Given the description of an element on the screen output the (x, y) to click on. 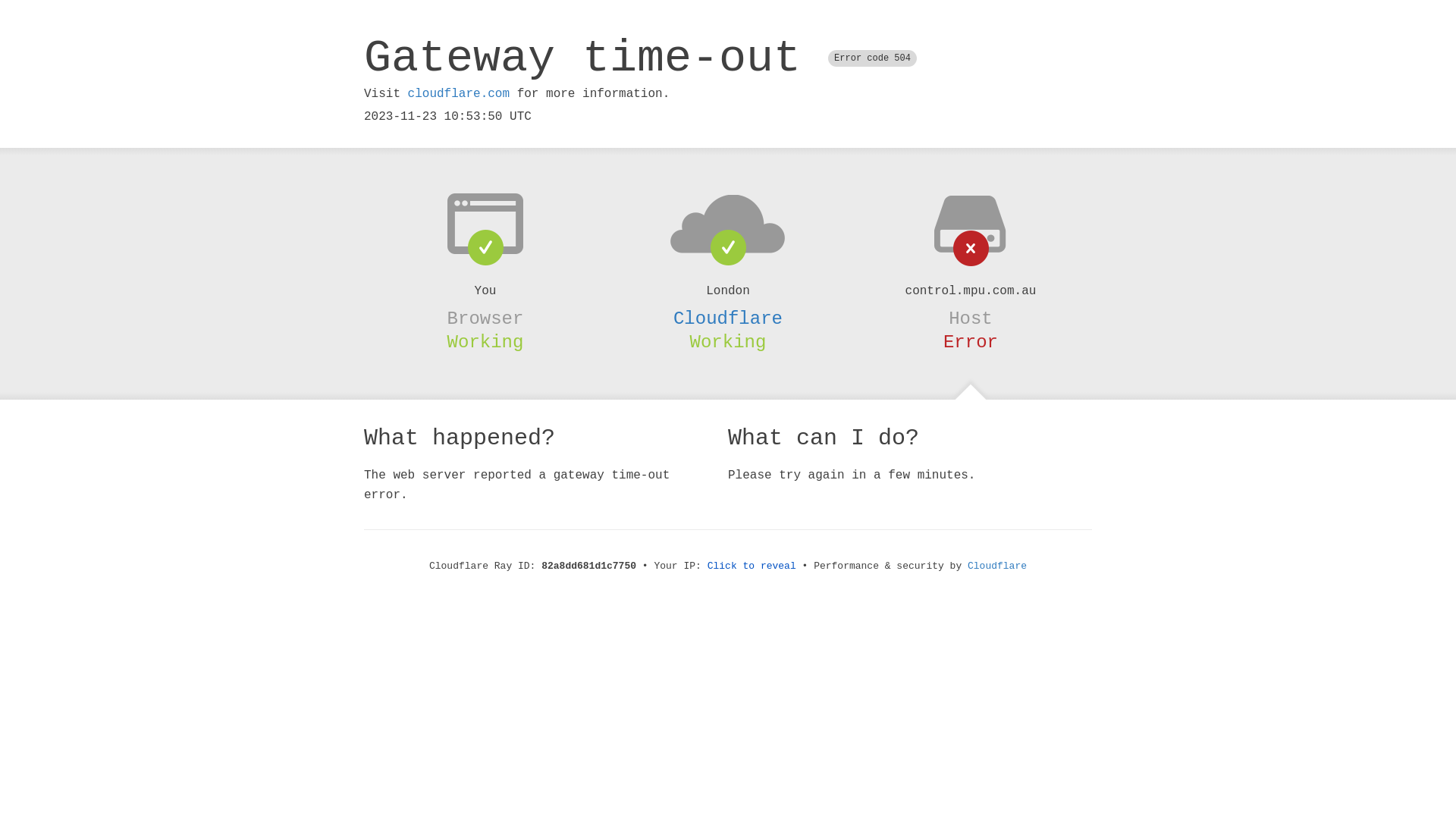
Click to reveal Element type: text (751, 565)
cloudflare.com Element type: text (458, 93)
Cloudflare Element type: text (727, 318)
Cloudflare Element type: text (996, 565)
